Given the description of an element on the screen output the (x, y) to click on. 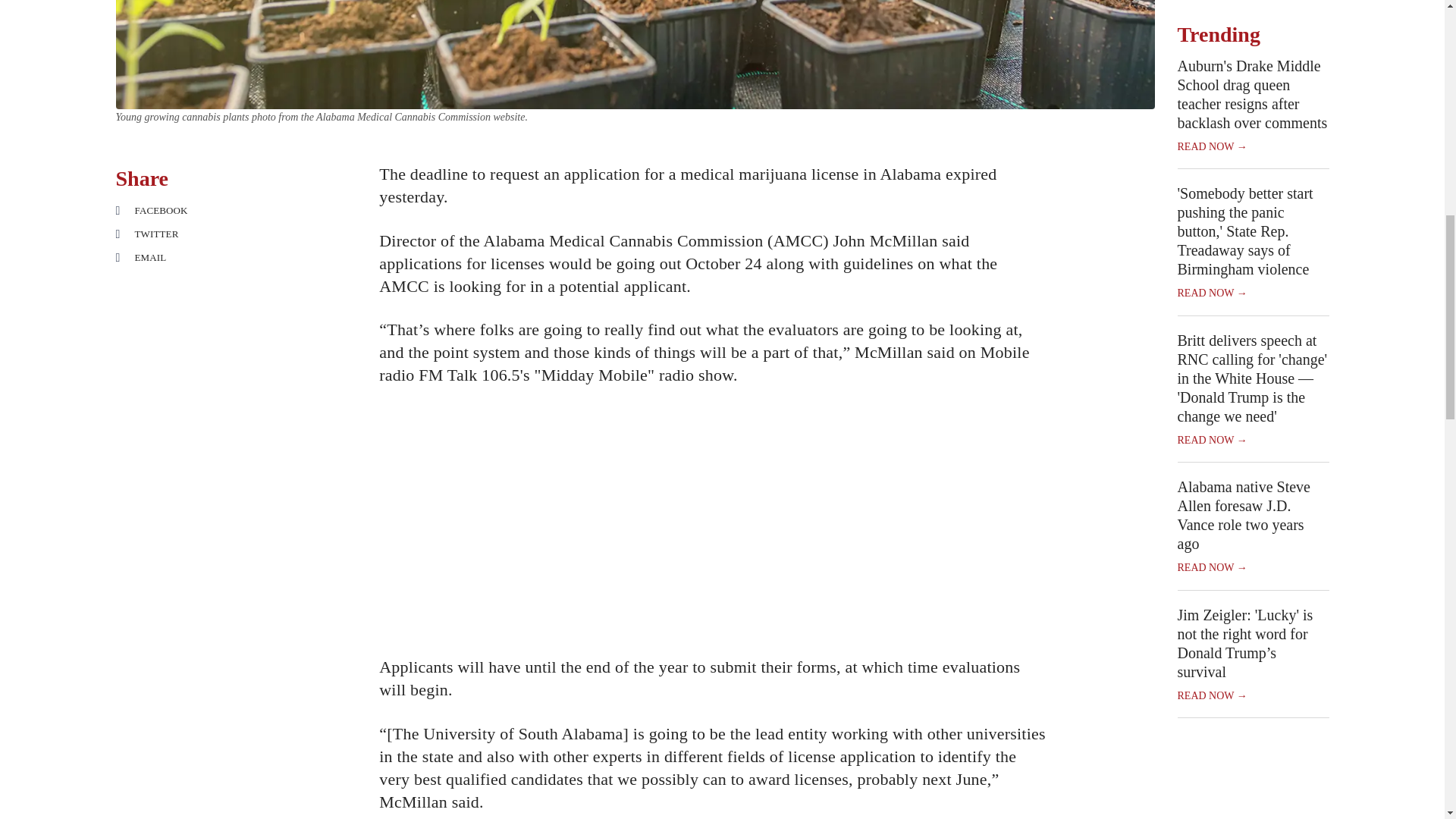
FACEBOOK (181, 210)
